Given the description of an element on the screen output the (x, y) to click on. 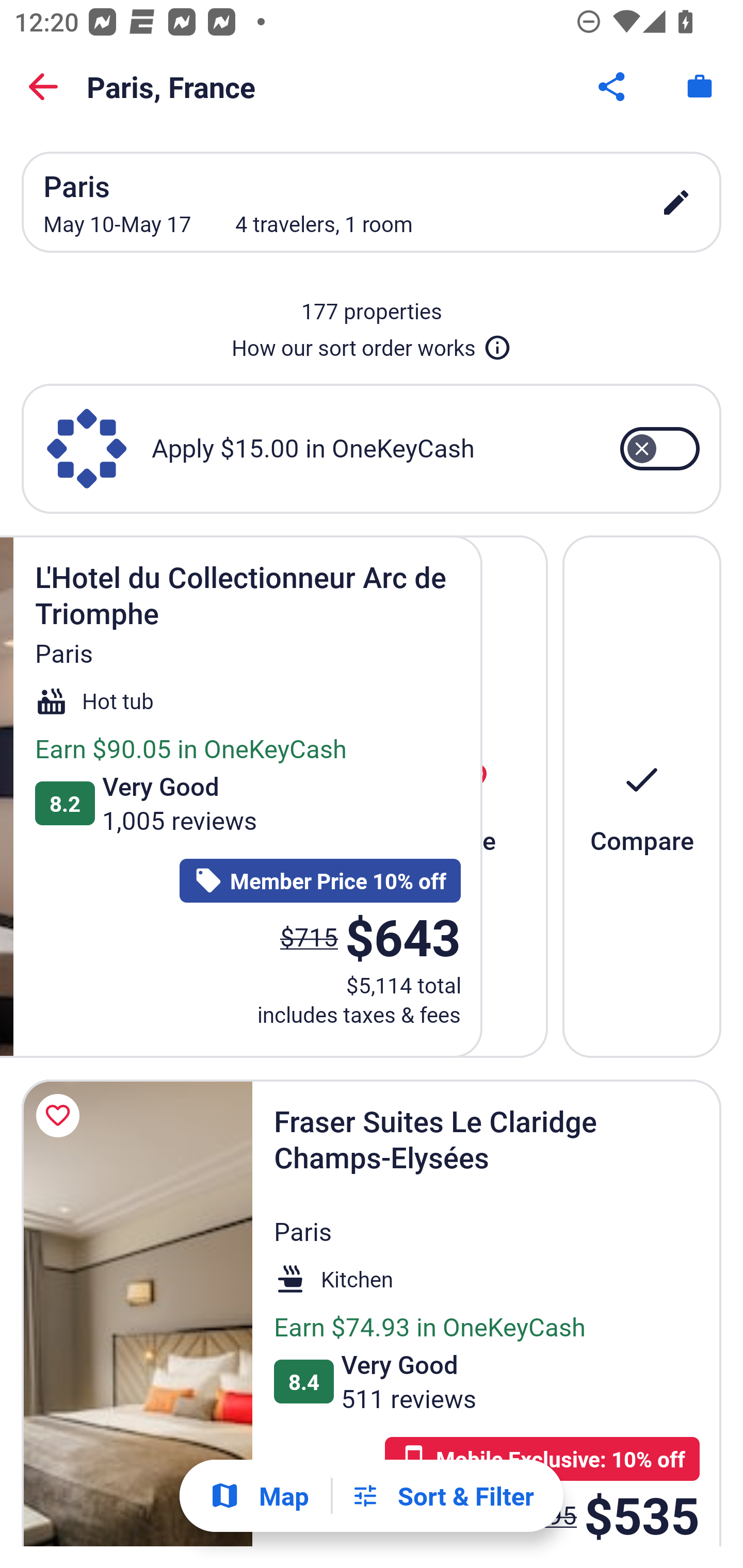
Back (43, 86)
Share Button (612, 86)
Trips. Button (699, 86)
Paris May 10-May 17 4 travelers, 1 room edit (371, 202)
How our sort order works (371, 344)
Compare (641, 796)
$715 The price was $715 (308, 936)
Fraser Suites Le Claridge Champs-Elysées (136, 1312)
Filters Sort & Filter Filters Button (442, 1495)
Show map Map Show map Button (258, 1495)
